Given the description of an element on the screen output the (x, y) to click on. 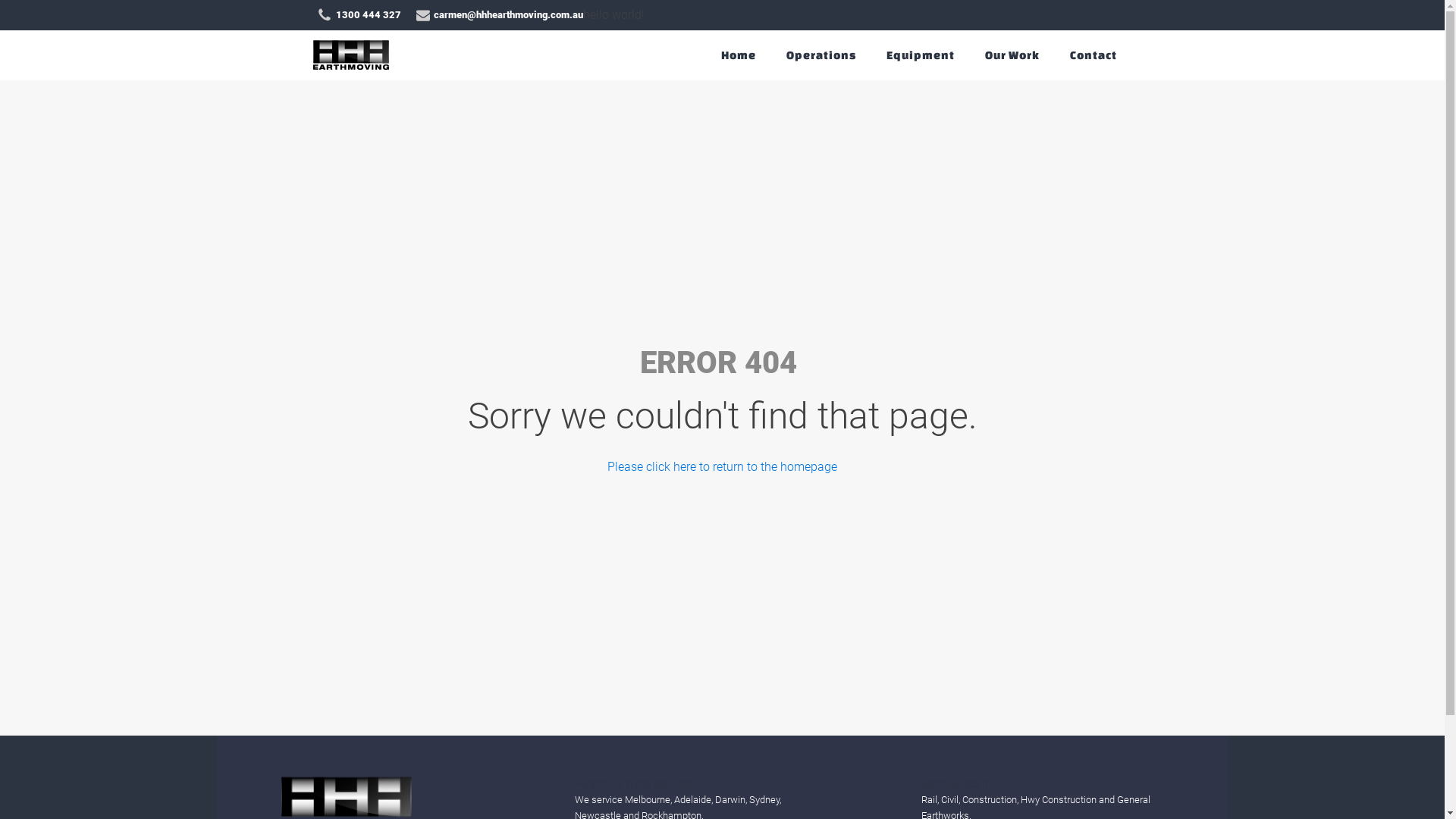
Contact Element type: text (1092, 55)
Home Element type: text (737, 55)
Please click here to return to the homepage Element type: text (722, 466)
Equipment Element type: text (919, 55)
carmen@hhhearthmoving.com.au Element type: text (498, 14)
Our Work Element type: text (1011, 55)
1300 444 327 Element type: text (358, 14)
Operations Element type: text (820, 55)
